Given the description of an element on the screen output the (x, y) to click on. 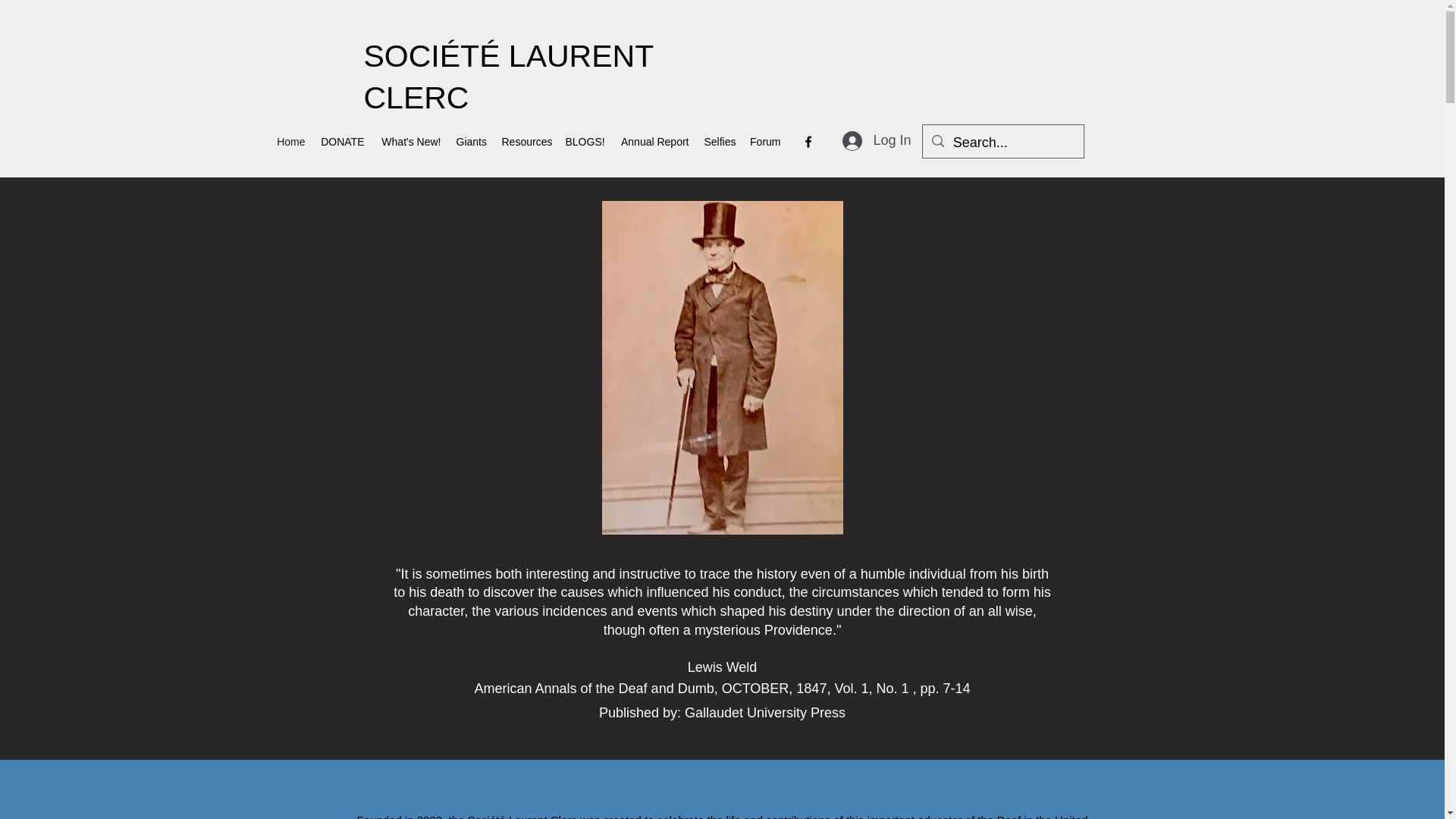
Home (290, 141)
DONATE (342, 141)
Giants (471, 141)
What's New! (409, 141)
